Given the description of an element on the screen output the (x, y) to click on. 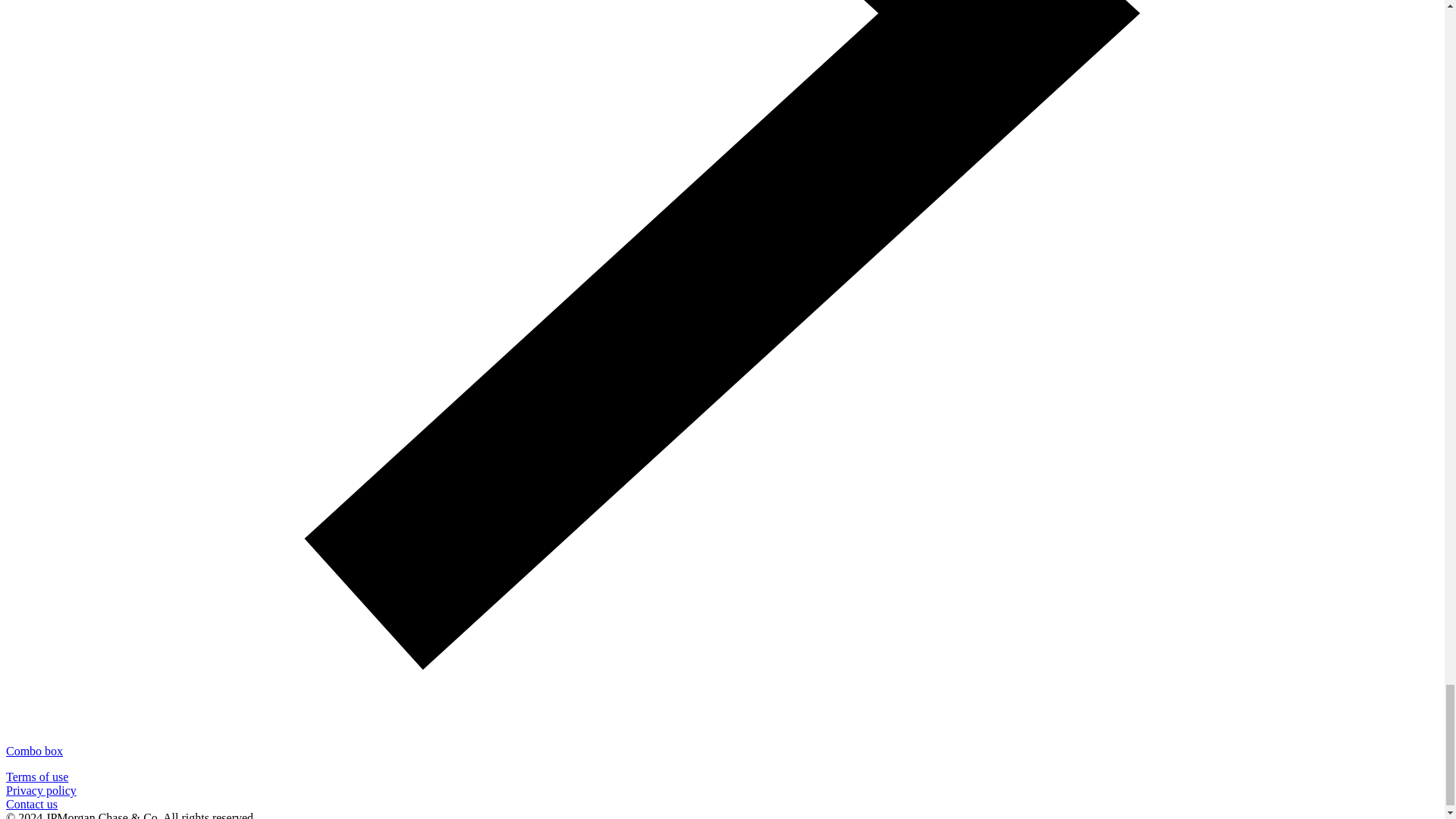
Privacy policy (41, 789)
Terms of use (36, 776)
Contact us (31, 803)
